Given the description of an element on the screen output the (x, y) to click on. 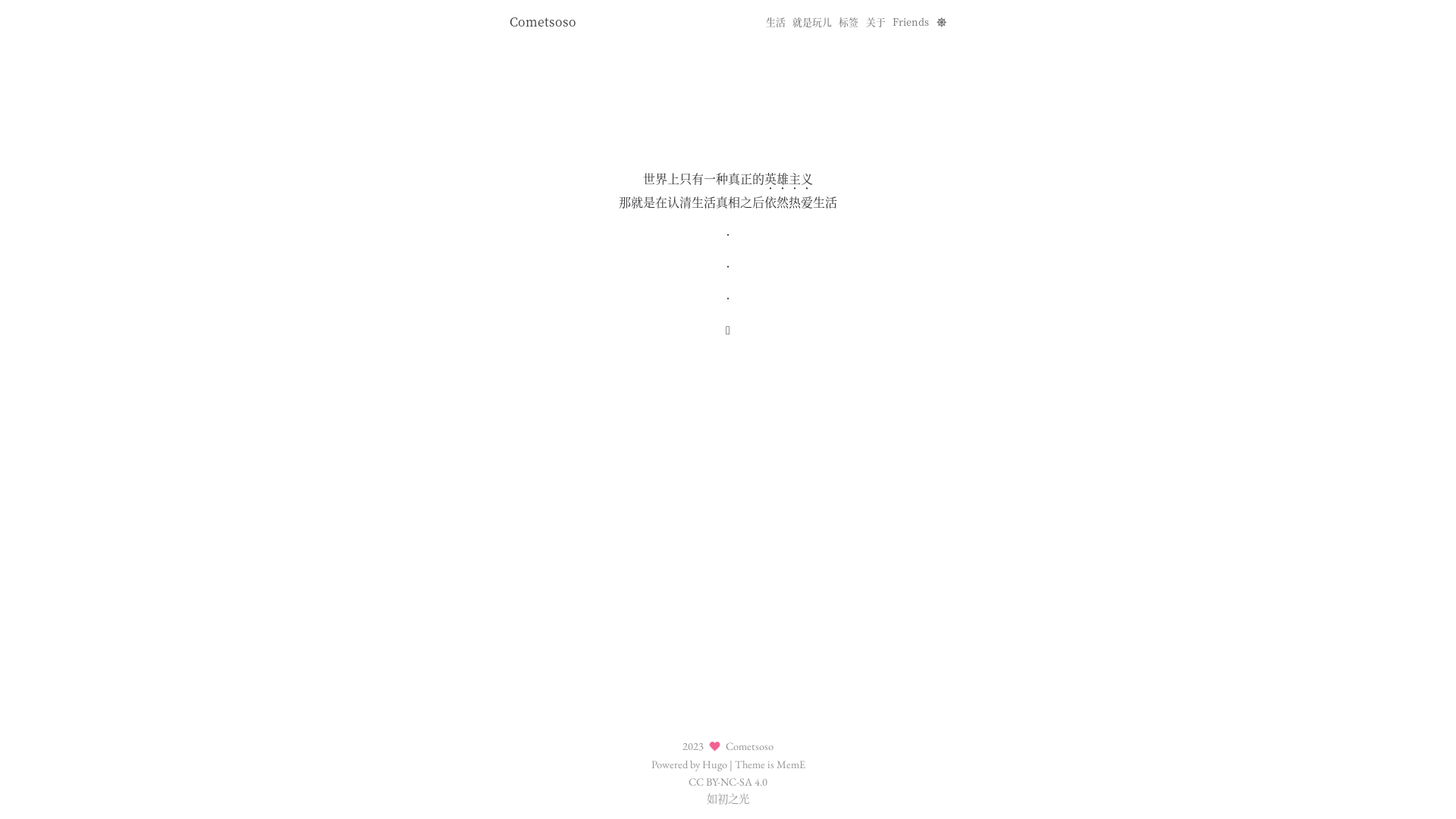
Cometsoso Element type: text (542, 21)
Friends Element type: text (910, 21)
CC BY-NC-SA 4.0 Element type: text (727, 781)
Hugo Element type: text (714, 763)
MemE Element type: text (790, 763)
